Given the description of an element on the screen output the (x, y) to click on. 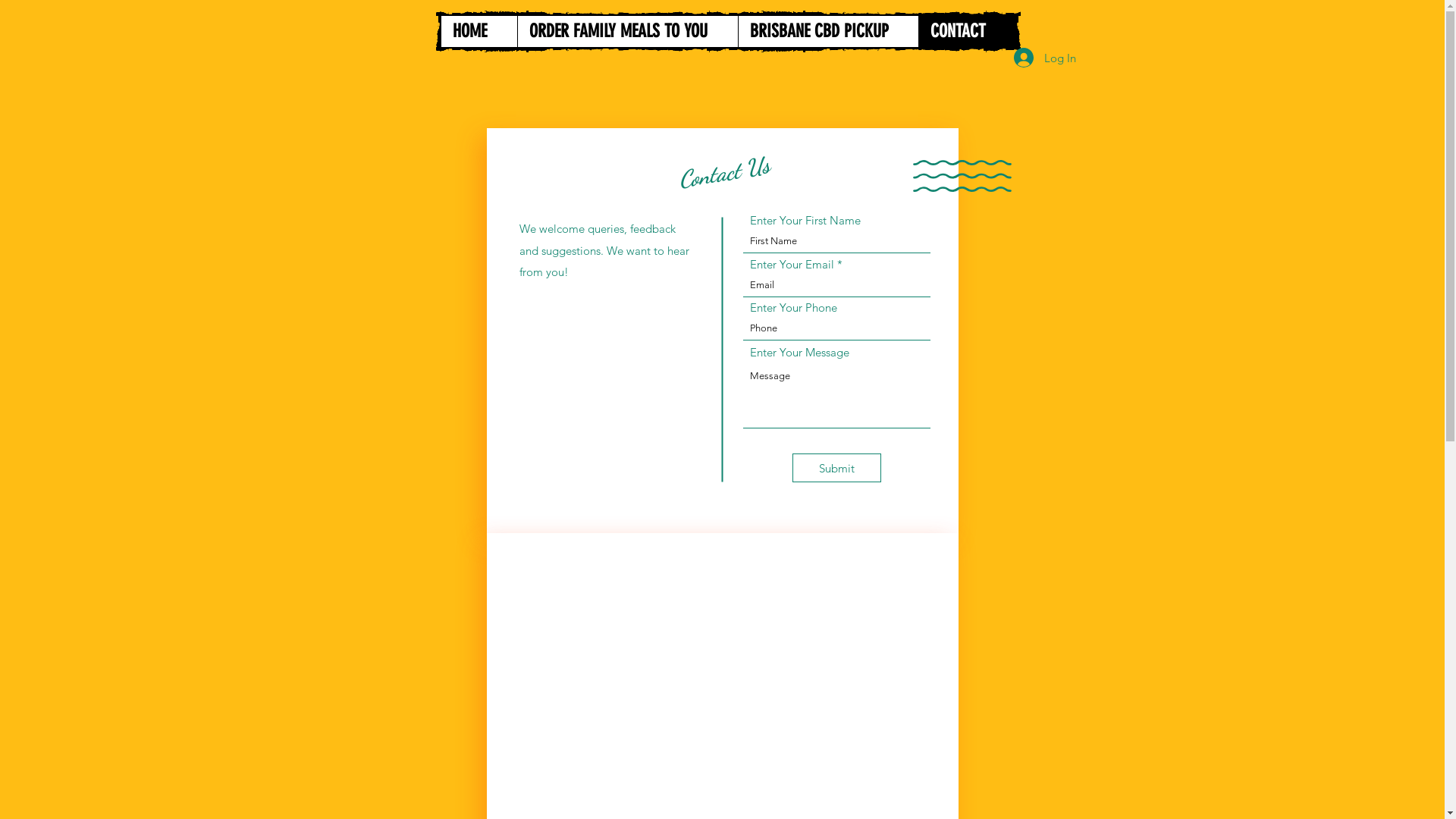
Submit Element type: text (835, 467)
Log In Element type: text (1043, 57)
Restaurant Social Bar Element type: hover (1404, 316)
BRISBANE CBD PICKUP Element type: text (827, 31)
CONTACT Element type: text (965, 31)
HOME Element type: text (479, 31)
ORDER FAMILY MEALS TO YOU Element type: text (627, 31)
